Given the description of an element on the screen output the (x, y) to click on. 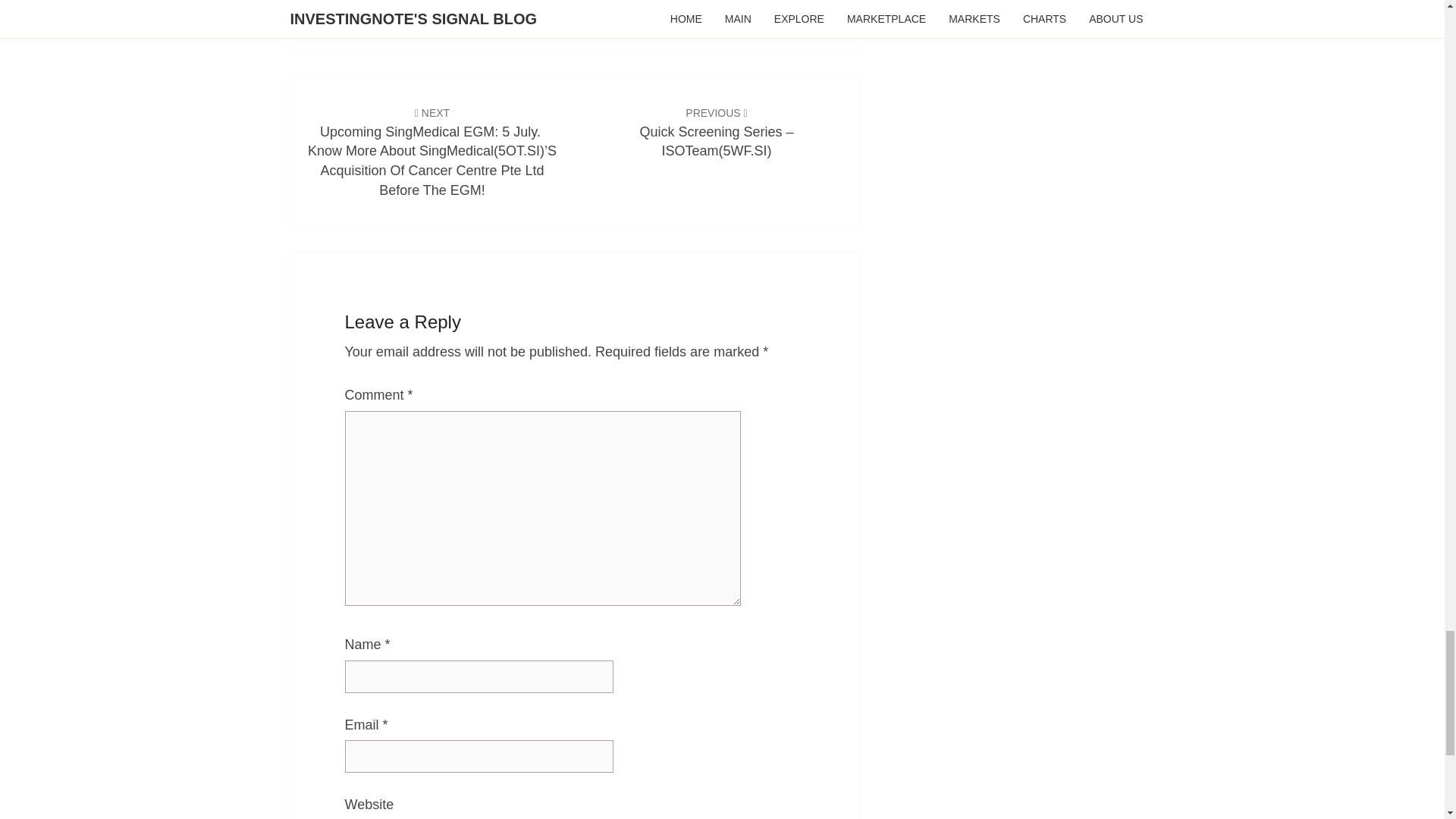
Stockscreening (726, 6)
Stockanalysis (626, 6)
